Given the description of an element on the screen output the (x, y) to click on. 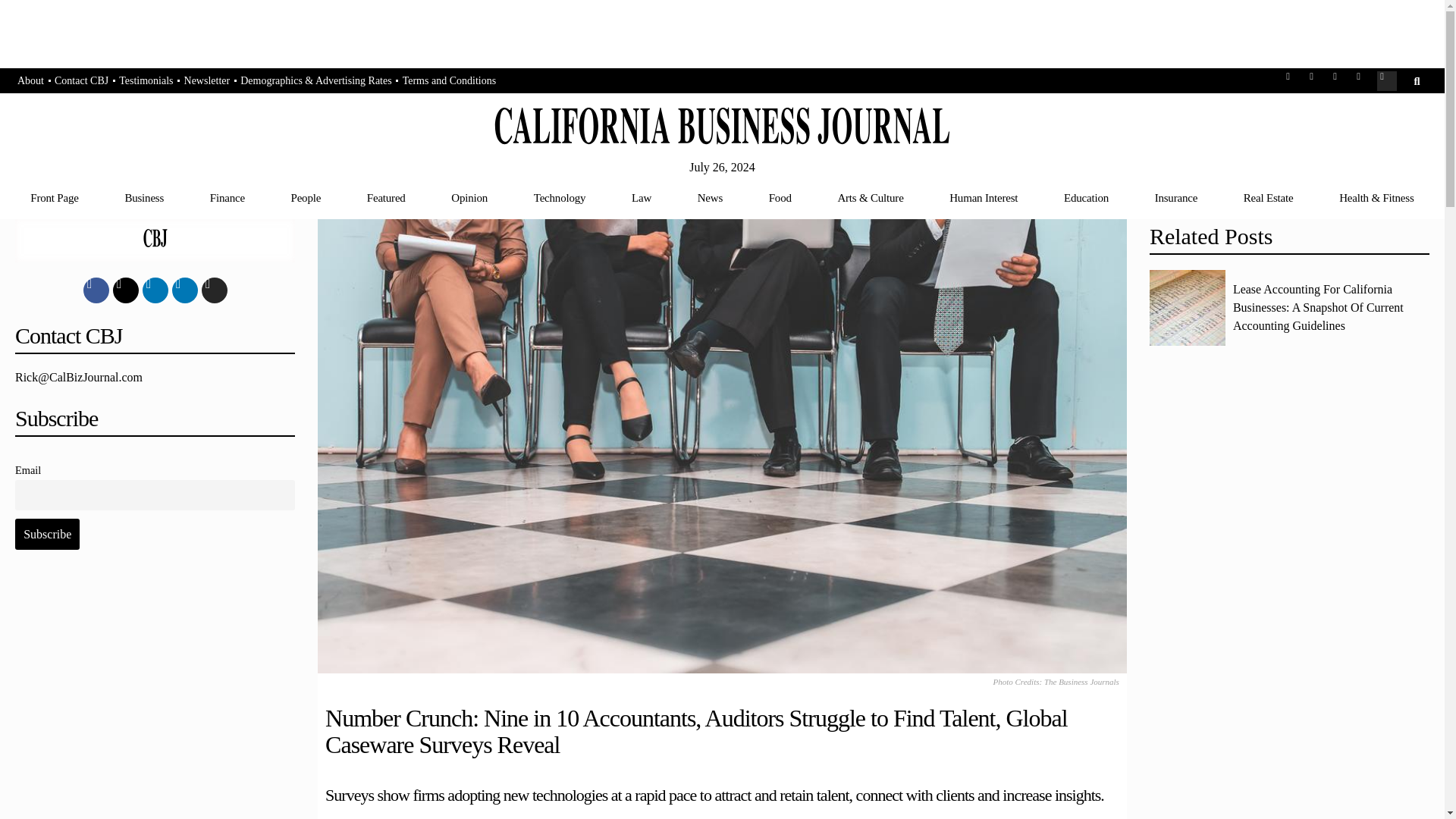
Real Estate (1268, 197)
Education (1086, 197)
Insurance (1175, 197)
Contact CBJ (81, 81)
Newsletter (207, 81)
Law (641, 197)
Testimonials (145, 81)
Food (779, 197)
People (305, 197)
Advertisement (155, 698)
Featured (385, 197)
Finance (226, 197)
Subscribe (47, 533)
Business (143, 197)
Technology (559, 197)
